Given the description of an element on the screen output the (x, y) to click on. 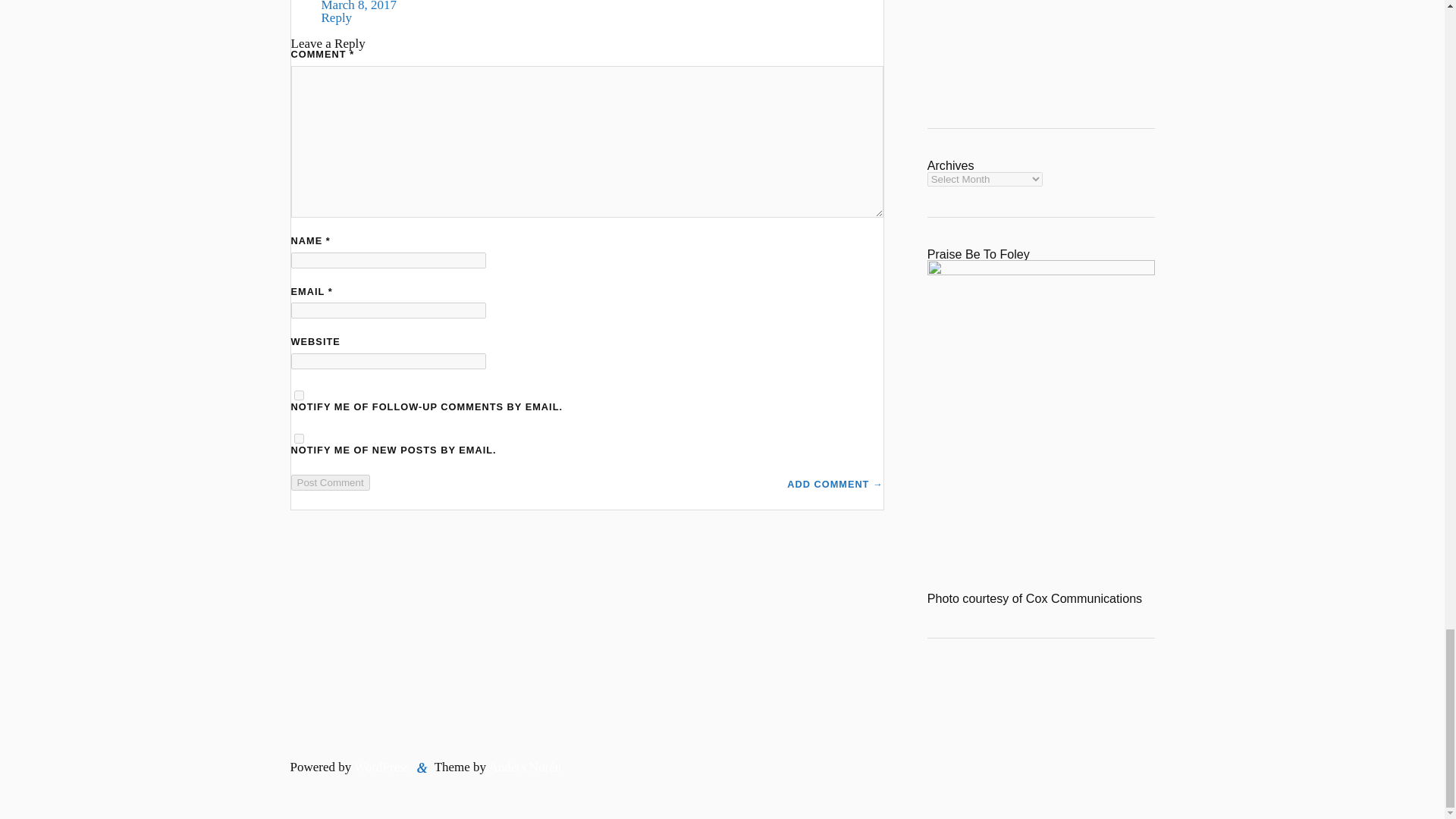
subscribe (299, 395)
Post Comment (330, 482)
subscribe (299, 438)
March 8, 2017 at 5:04 AM (359, 6)
